Given the description of an element on the screen output the (x, y) to click on. 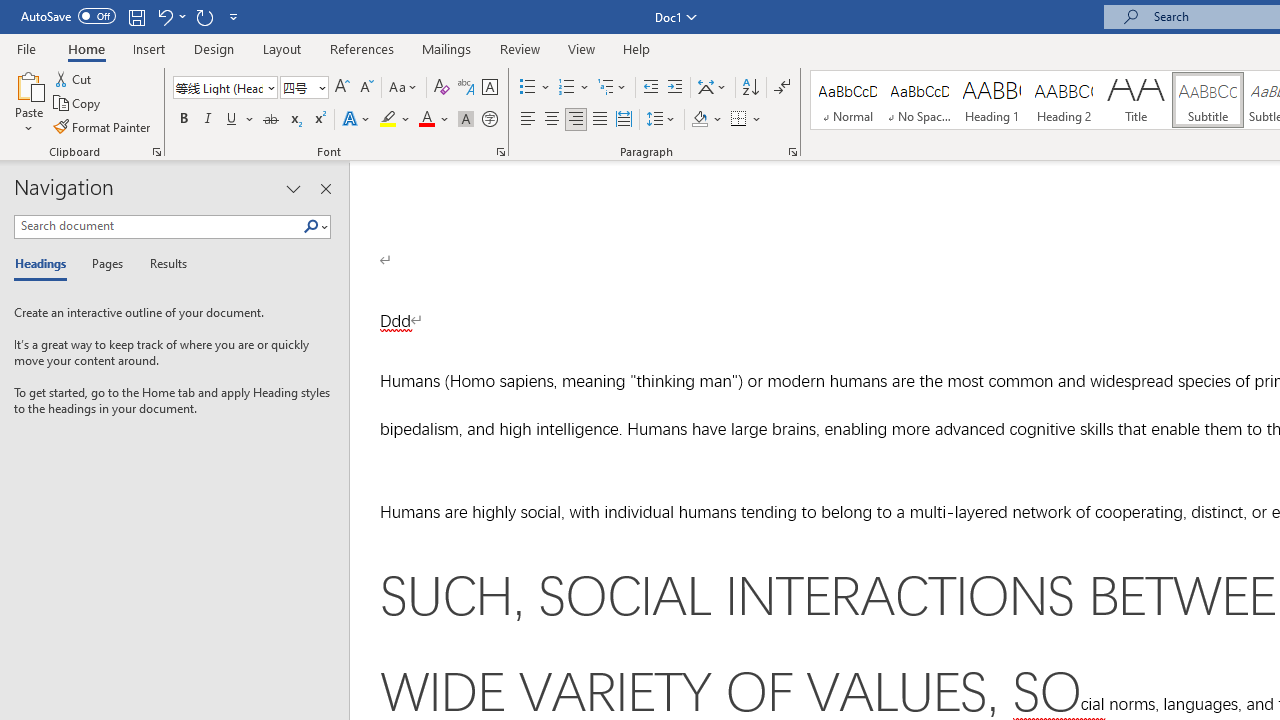
Character Shading (465, 119)
Headings (45, 264)
Quick Access Toolbar (131, 16)
Text Highlight Color Yellow (388, 119)
Justify (599, 119)
View (582, 48)
Paragraph... (792, 151)
Insert (149, 48)
Customize Quick Access Toolbar (234, 15)
Clear Formatting (442, 87)
